Given the description of an element on the screen output the (x, y) to click on. 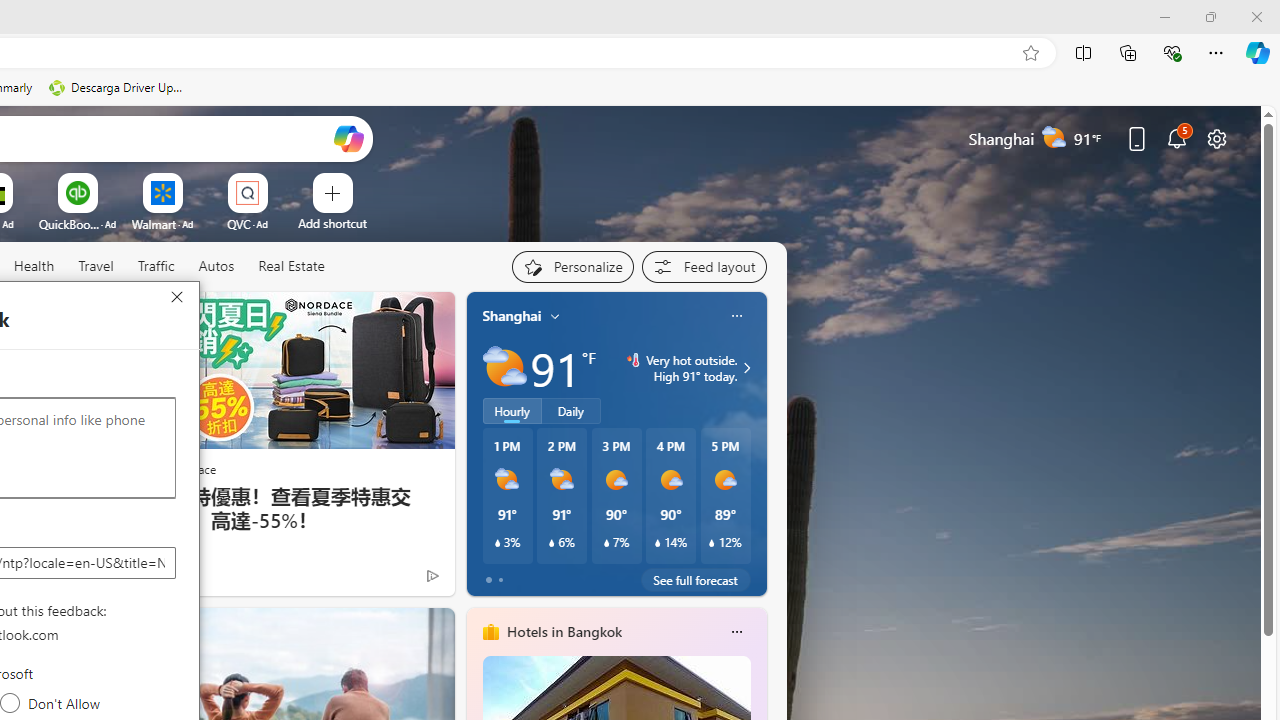
Health (34, 265)
Page settings (1216, 138)
Autos (216, 267)
See full forecast (695, 579)
Partly sunny (504, 368)
Daily (571, 411)
hotels-header-icon (490, 632)
